Given the description of an element on the screen output the (x, y) to click on. 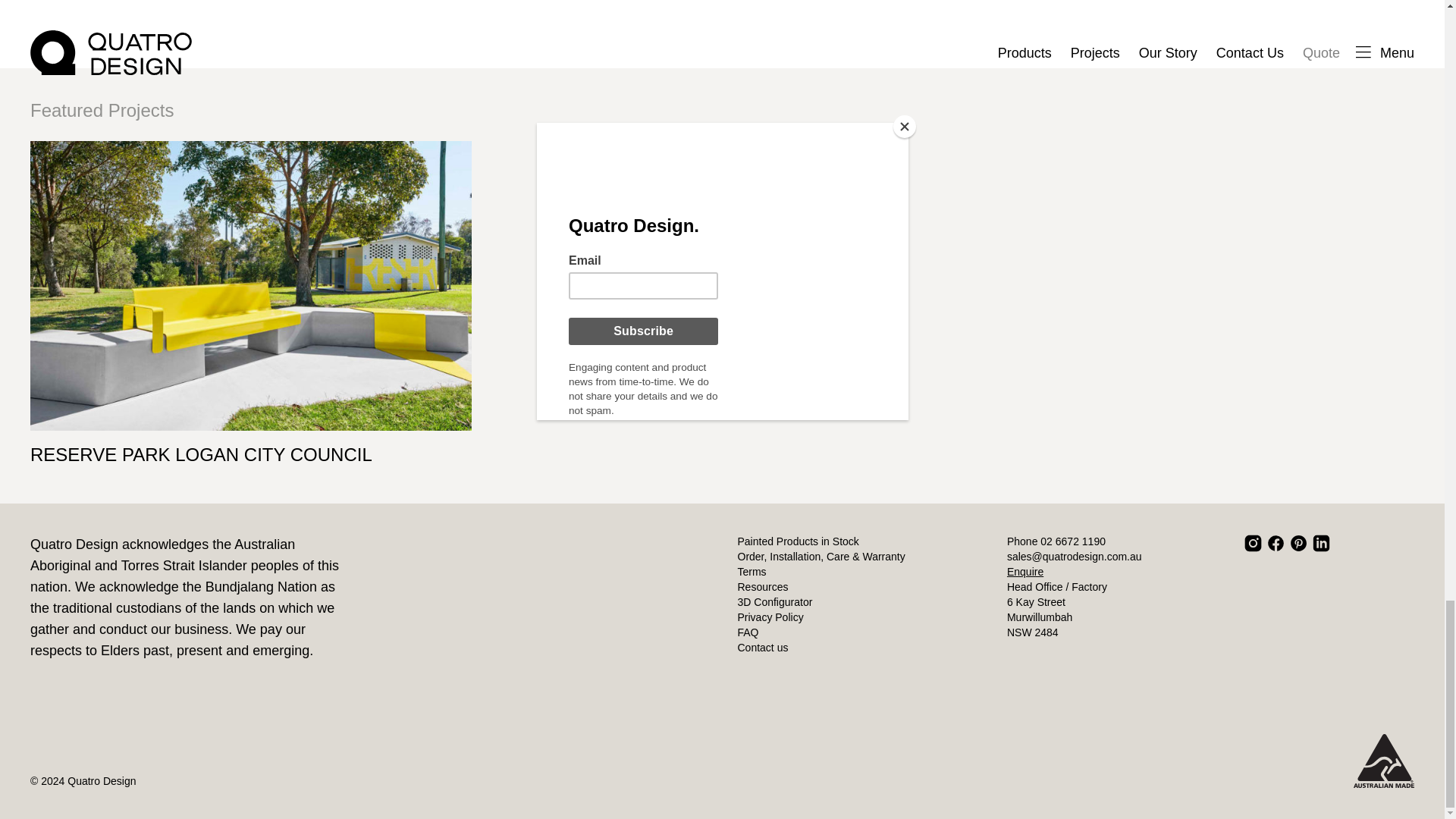
Painted Products in Stock (797, 541)
Pinterest (1297, 542)
Contact us (761, 647)
Instagram (1252, 542)
Enquire (1025, 571)
FAQ (747, 632)
02 6672 1190 (1073, 541)
Terms (750, 571)
Privacy Policy (769, 616)
Facebook (1275, 542)
LinkedIn (1320, 542)
3D Configurator (774, 602)
Resources (761, 586)
